Given the description of an element on the screen output the (x, y) to click on. 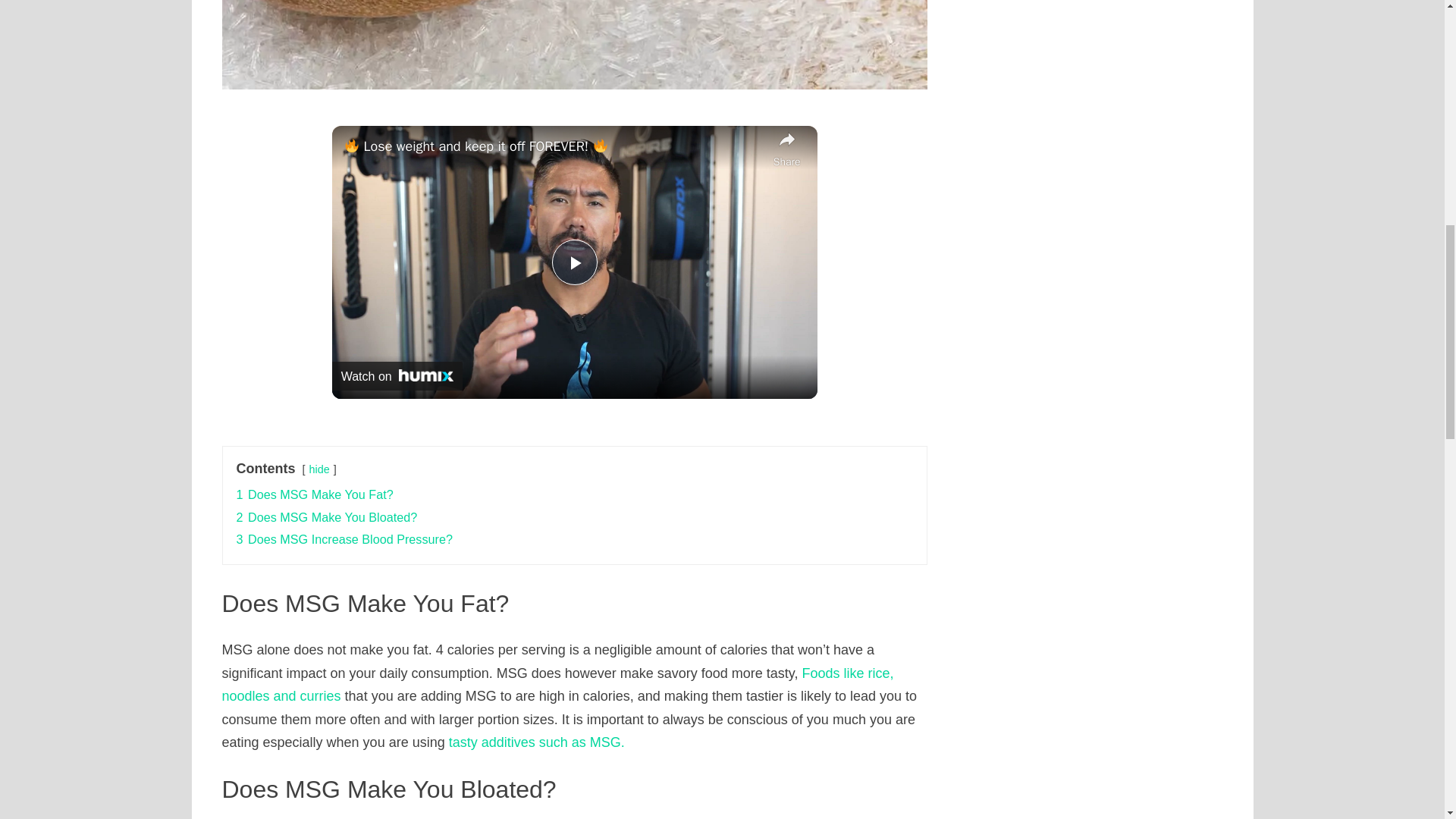
Play Video (573, 262)
Play Video (573, 262)
